Given the description of an element on the screen output the (x, y) to click on. 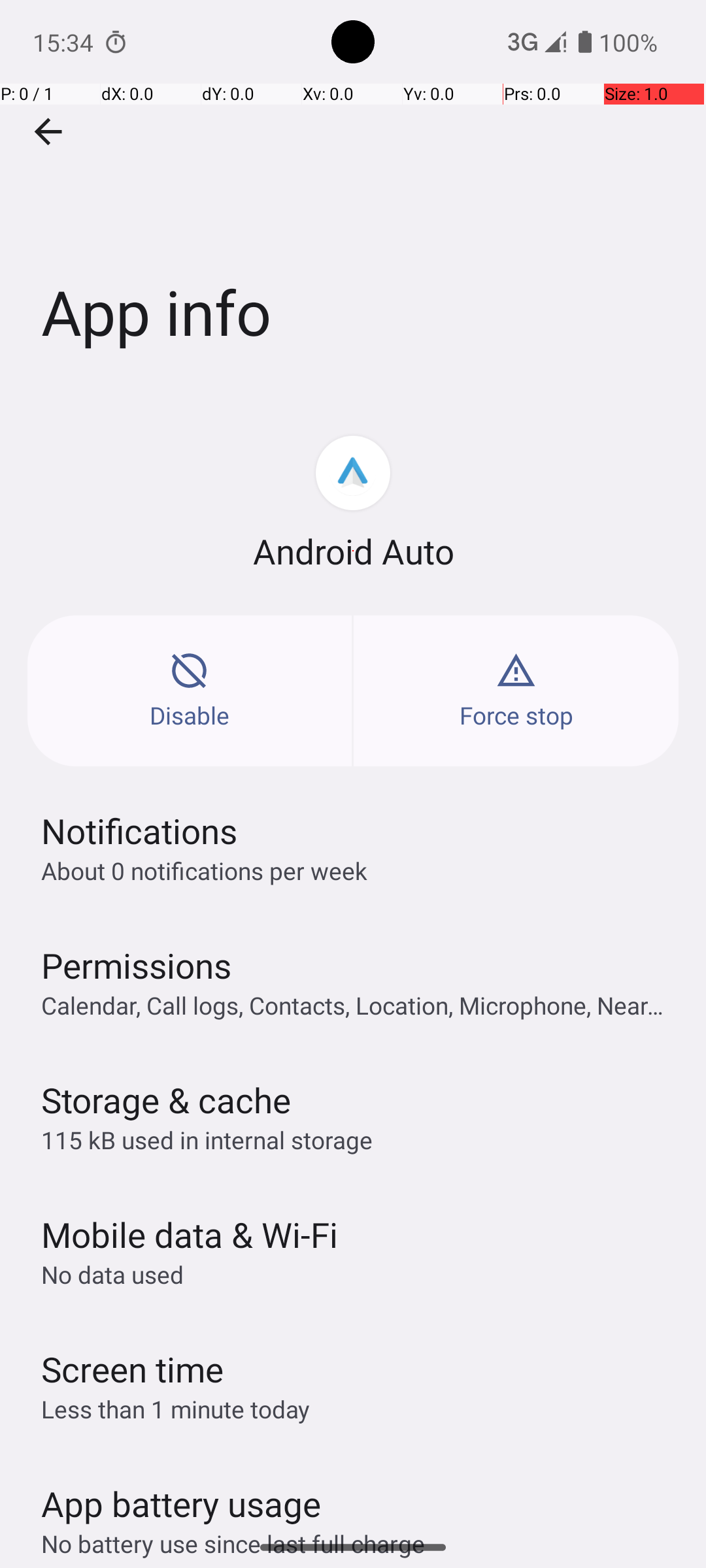
Calendar, Call logs, Contacts, Location, Microphone, Nearby devices, Notifications, Phone, and SMS Element type: android.widget.TextView (359, 1004)
115 kB used in internal storage Element type: android.widget.TextView (206, 1139)
Less than 1 minute today Element type: android.widget.TextView (175, 1408)
